Given the description of an element on the screen output the (x, y) to click on. 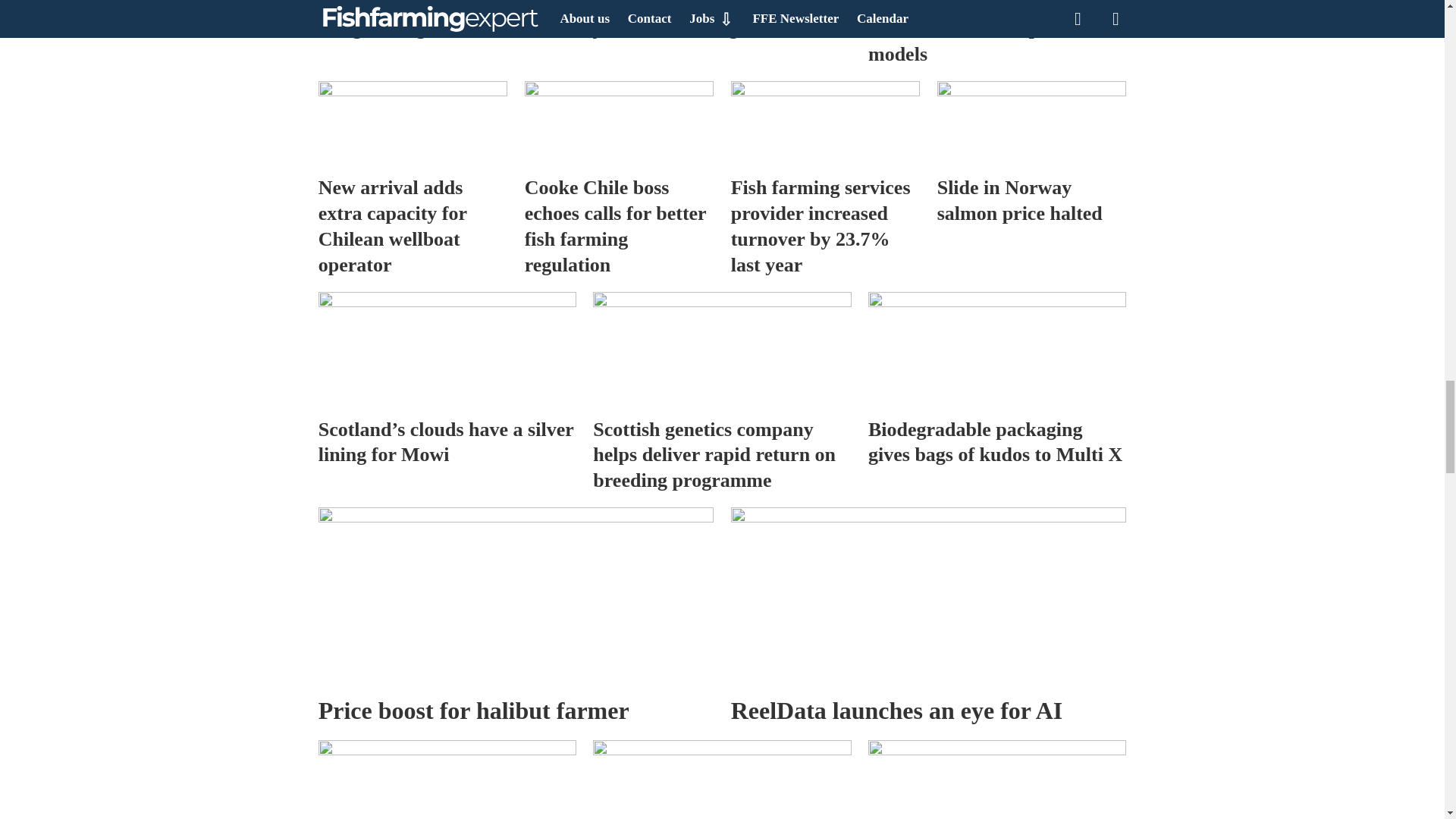
Slide in Norway salmon price halted (1031, 124)
